Given the description of an element on the screen output the (x, y) to click on. 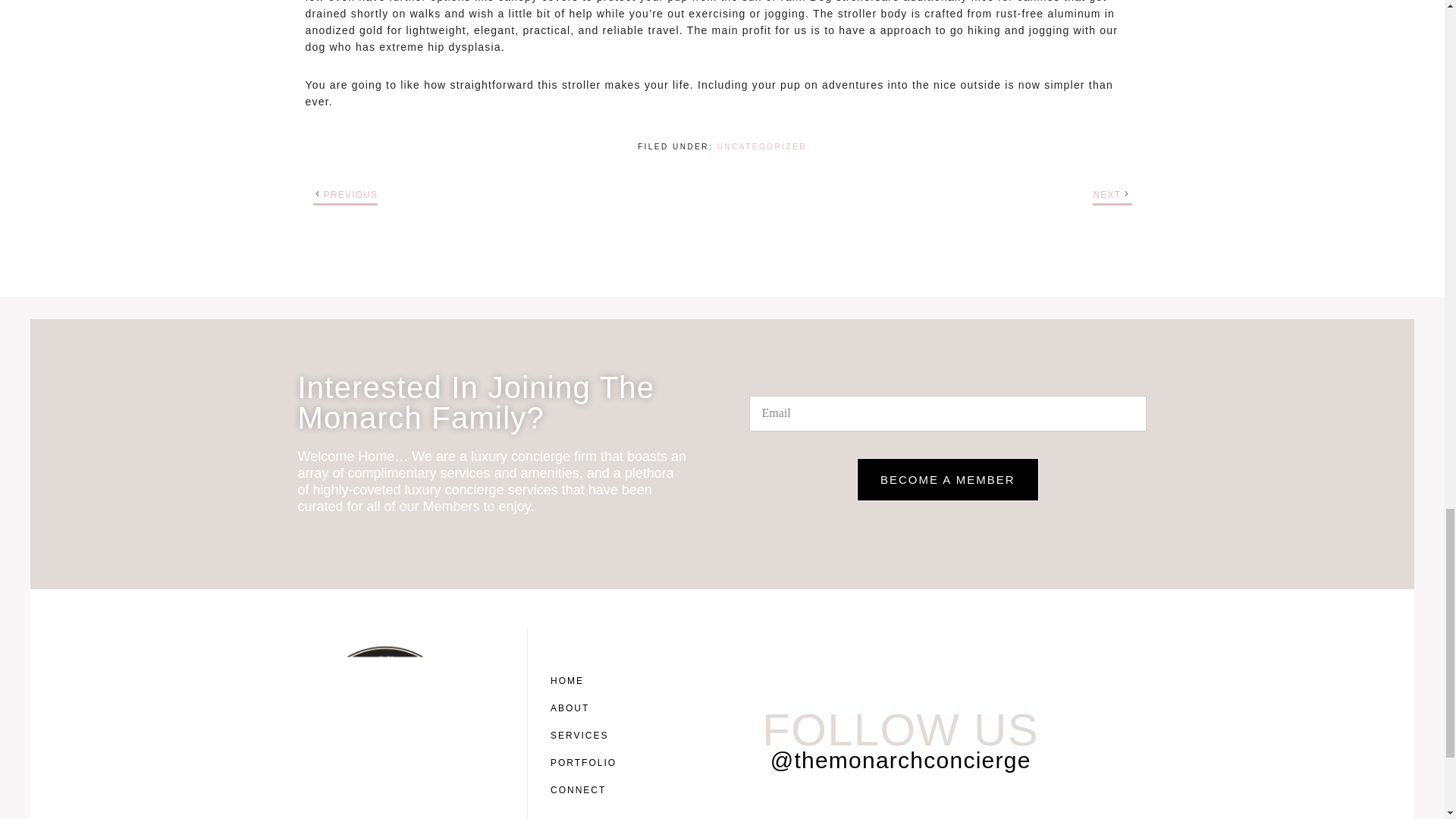
HOME (587, 680)
BECOME A MEMBER (948, 479)
CONNECT (587, 789)
UNCATEGORIZED (761, 146)
NEXT (1107, 194)
PORTFOLIO (587, 762)
ABOUT (587, 707)
PREVIOUS (350, 194)
SERVICES (587, 735)
